Given the description of an element on the screen output the (x, y) to click on. 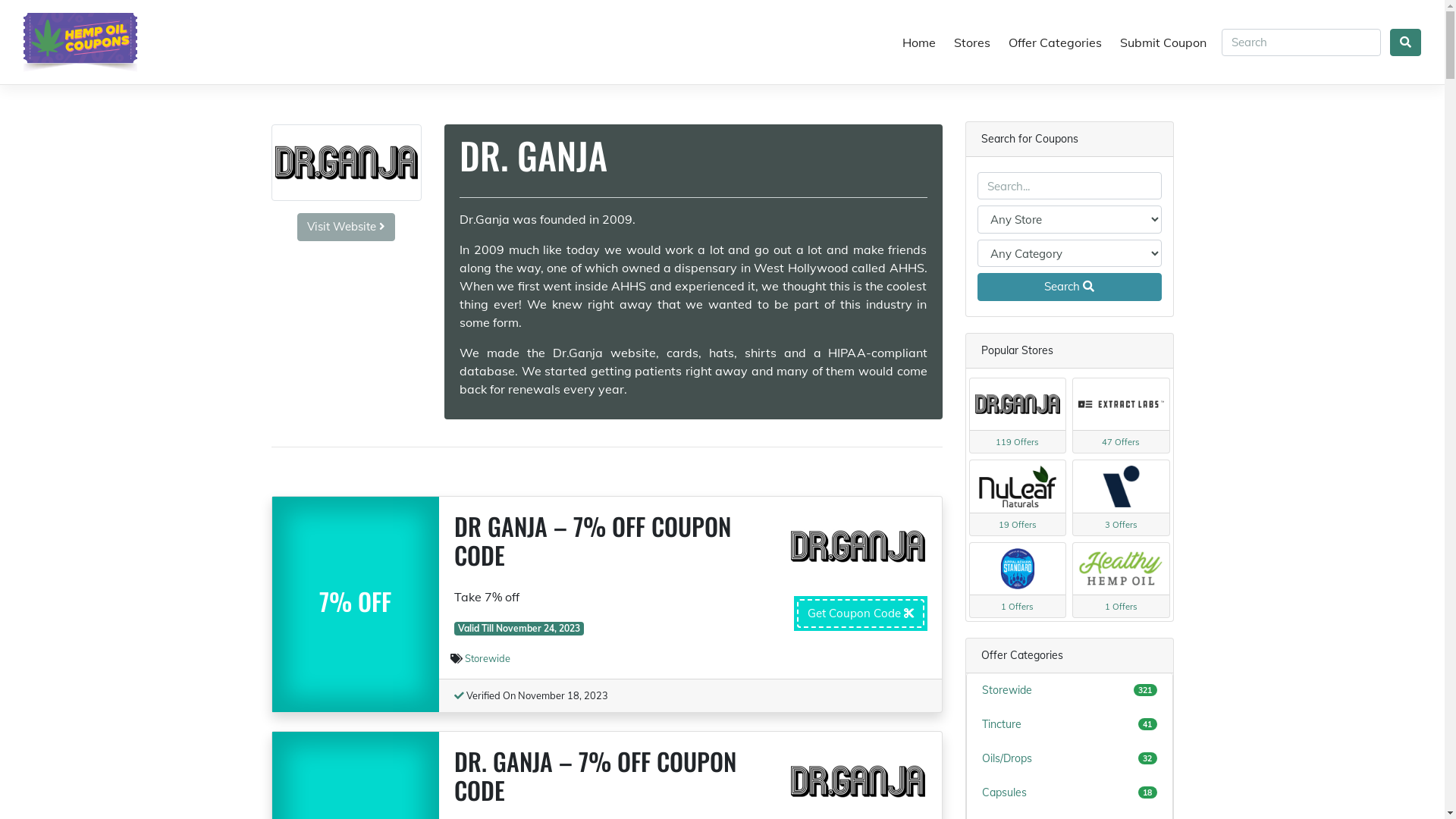
Visit Website Element type: text (346, 227)
Offer Categories Element type: text (1054, 42)
47 Offers Element type: text (1121, 415)
Storewide Element type: text (487, 658)
Stores Element type: text (971, 42)
Storewide
321 Element type: text (1069, 690)
Capsules
18 Element type: text (1069, 792)
Oils/Drops
32 Element type: text (1069, 758)
3 Offers Element type: text (1121, 497)
1 Offers Element type: text (1017, 580)
Home Element type: text (918, 42)
Get Coupon Code Element type: text (859, 613)
Tincture
41 Element type: text (1069, 724)
Submit Coupon Element type: text (1162, 42)
119 Offers Element type: text (1017, 415)
19 Offers Element type: text (1017, 497)
Search Element type: text (1068, 287)
1 Offers Element type: text (1121, 580)
